Given the description of an element on the screen output the (x, y) to click on. 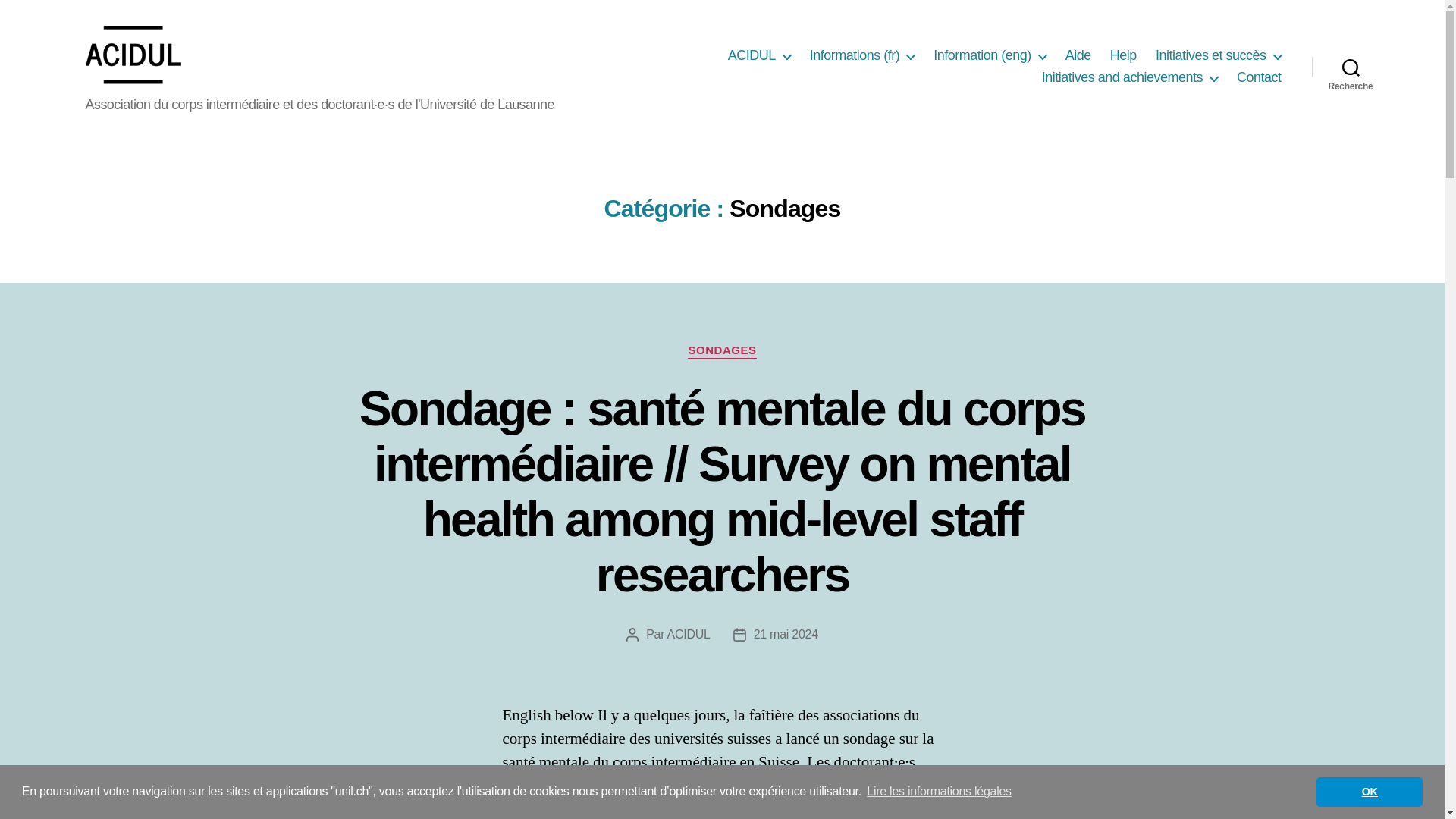
Help (1123, 55)
OK (1369, 791)
ACIDUL (759, 55)
Aide (1077, 55)
Initiatives and achievements (1129, 77)
